Given the description of an element on the screen output the (x, y) to click on. 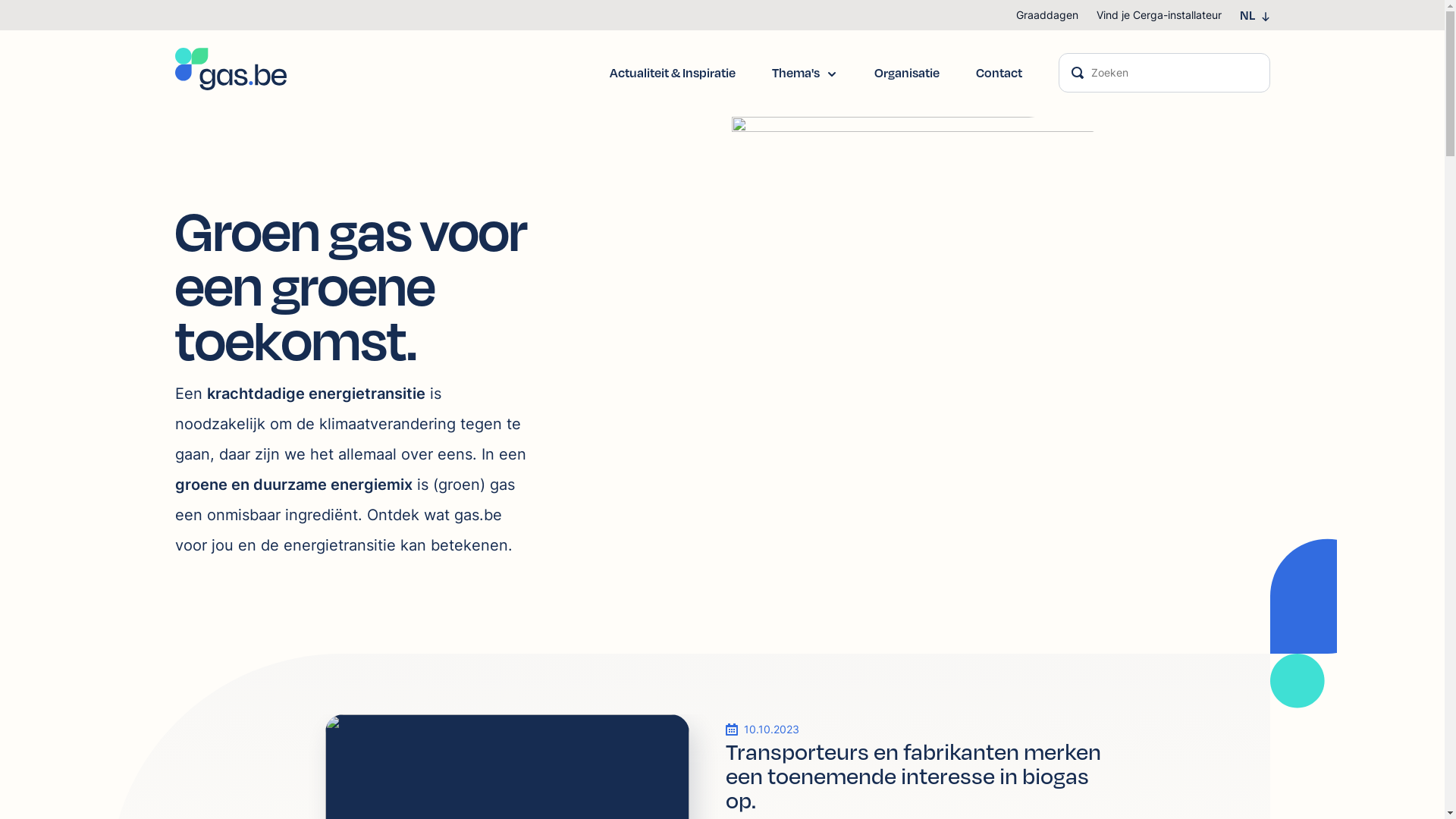
Organisatie Element type: text (905, 72)
Vind je Cerga-installateur Element type: text (1158, 14)
Actualiteit & Inspiratie Element type: text (672, 72)
Contact Element type: text (998, 72)
Thema's Element type: text (795, 72)
Graaddagen Element type: text (1047, 14)
